Given the description of an element on the screen output the (x, y) to click on. 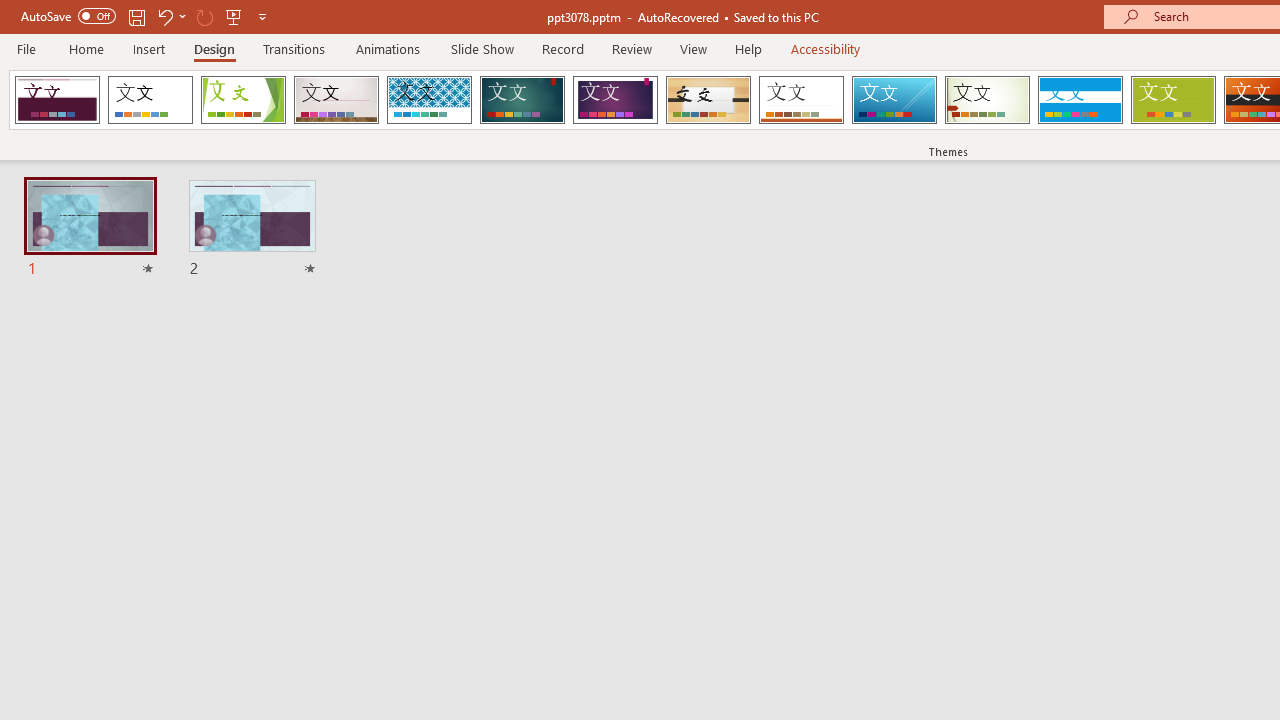
Banded (1080, 100)
Office Theme (150, 100)
Facet (243, 100)
Wisp (987, 100)
Ion (522, 100)
Organic (708, 100)
